Given the description of an element on the screen output the (x, y) to click on. 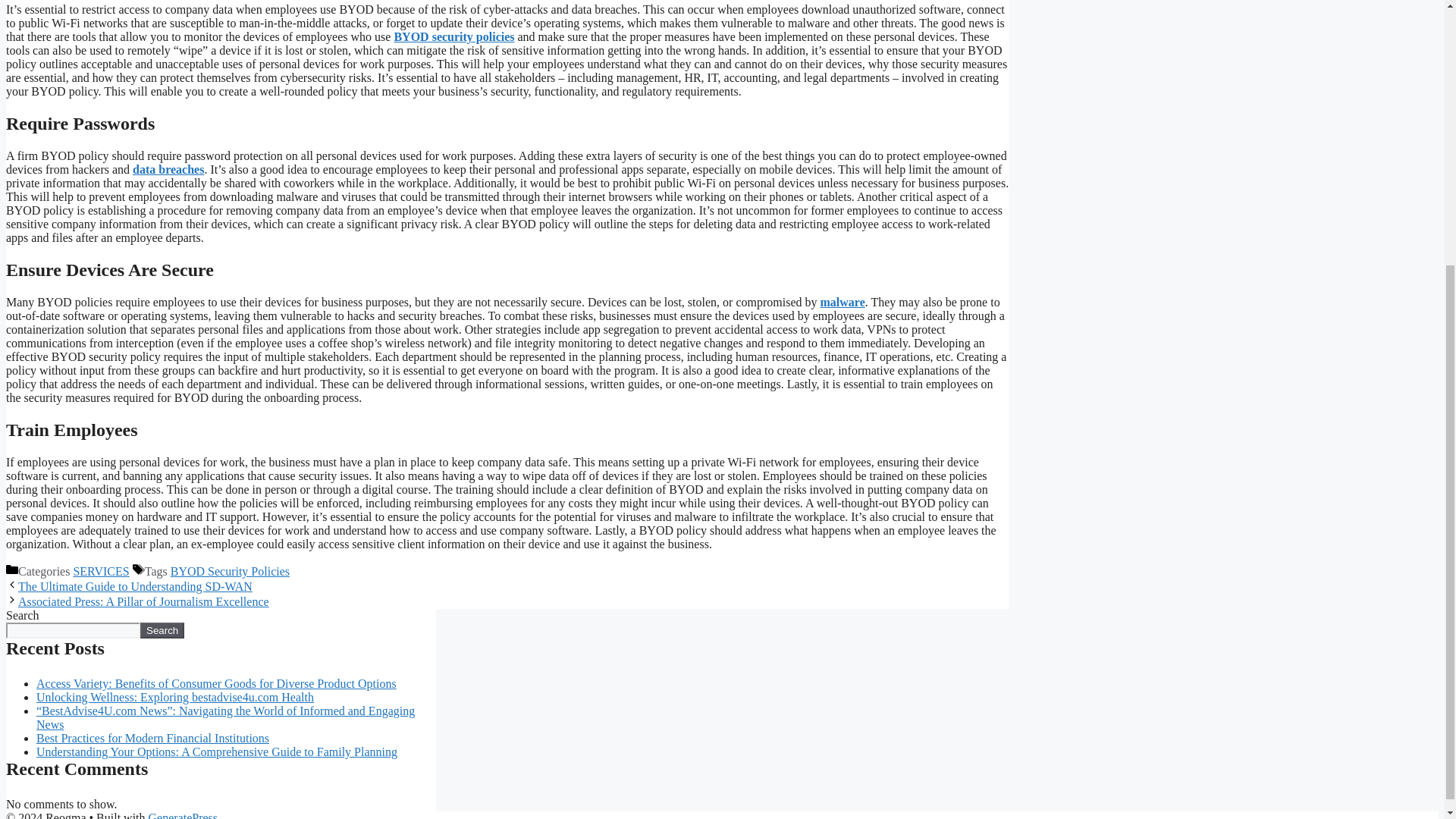
Best Practices for Modern Financial Institutions (152, 738)
The Ultimate Guide to Understanding SD-WAN (134, 585)
malware (842, 301)
Unlocking Wellness: Exploring bestadvise4u.com Health (175, 697)
SERVICES (100, 571)
data breaches (167, 169)
BYOD Security Policies (229, 571)
Associated Press: A Pillar of Journalism Excellence (143, 601)
Search (161, 630)
